Given the description of an element on the screen output the (x, y) to click on. 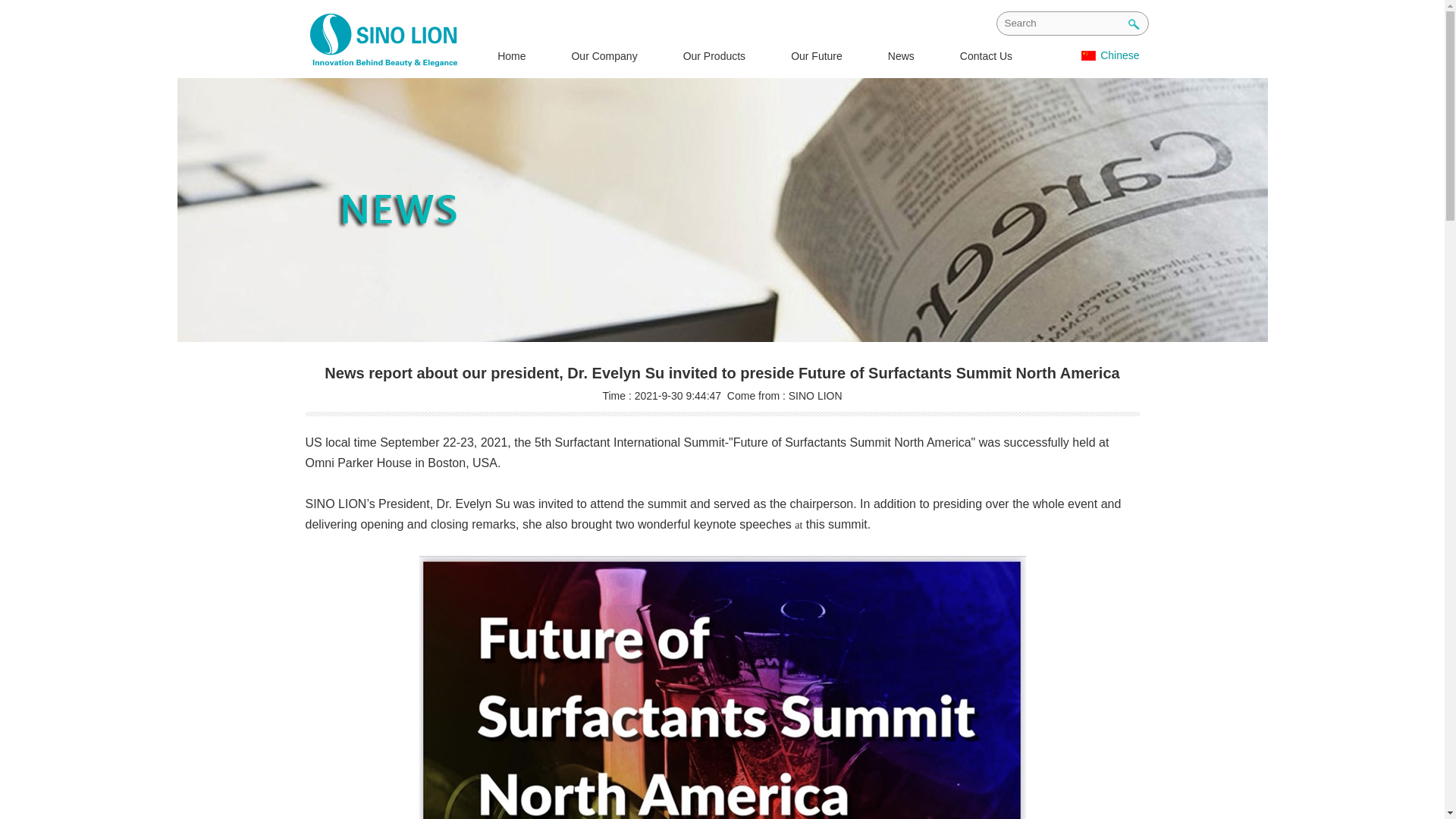
Our Future (816, 56)
Our Products (713, 56)
Chinese (1119, 55)
Our Company (603, 56)
Contact Us (985, 56)
